Given the description of an element on the screen output the (x, y) to click on. 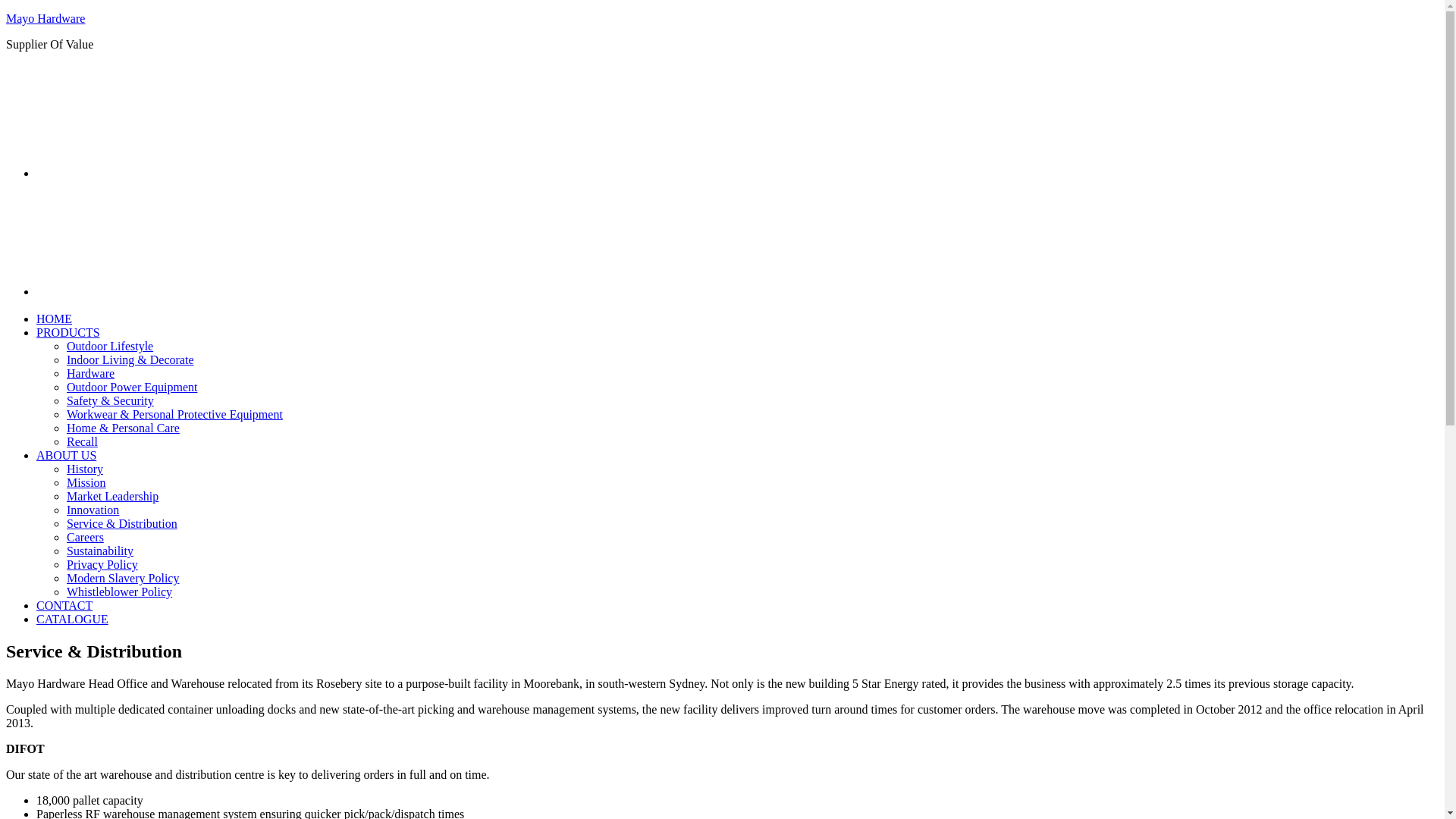
Privacy Policy Element type: text (102, 564)
ABOUT US Element type: text (66, 454)
Workwear & Personal Protective Equipment Element type: text (174, 413)
Whistleblower Policy Element type: text (119, 591)
HOME Element type: text (54, 318)
Careers Element type: text (84, 536)
LinkedIn Element type: text (159, 289)
Mission Element type: text (86, 482)
Email Element type: text (159, 170)
Mayo Hardware Element type: text (45, 18)
Safety & Security Element type: text (109, 400)
Home & Personal Care Element type: text (122, 427)
Indoor Living & Decorate Element type: text (130, 359)
Recall Element type: text (81, 441)
Modern Slavery Policy Element type: text (122, 577)
Market Leadership Element type: text (112, 495)
Hardware Element type: text (90, 373)
Innovation Element type: text (92, 509)
PRODUCTS Element type: text (68, 332)
Outdoor Power Equipment Element type: text (131, 386)
Service & Distribution Element type: text (121, 523)
History Element type: text (84, 468)
Outdoor Lifestyle Element type: text (109, 345)
CATALOGUE Element type: text (72, 618)
Sustainability Element type: text (99, 550)
CONTACT Element type: text (64, 605)
